Given the description of an element on the screen output the (x, y) to click on. 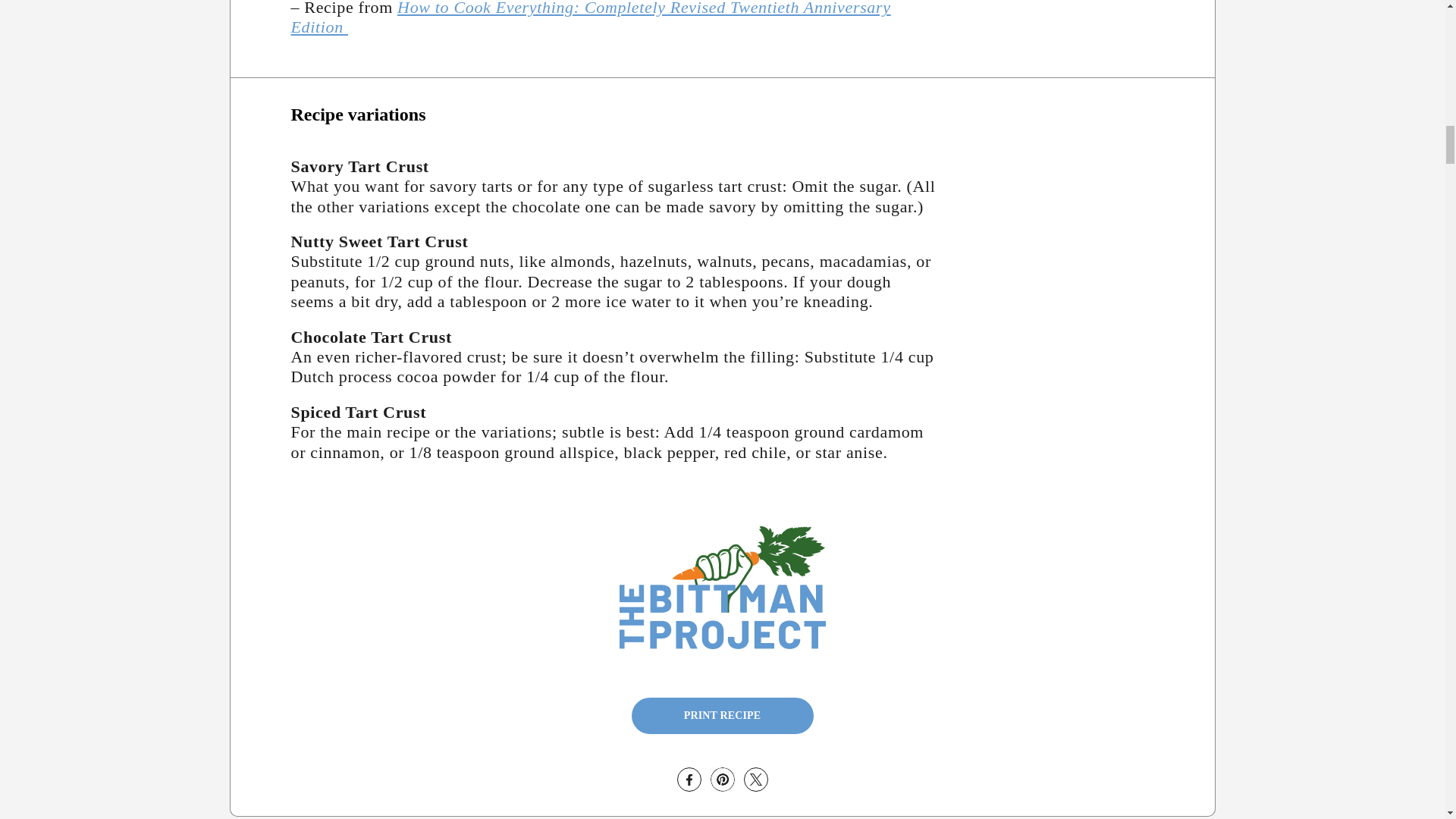
Page 880 (615, 18)
